Given the description of an element on the screen output the (x, y) to click on. 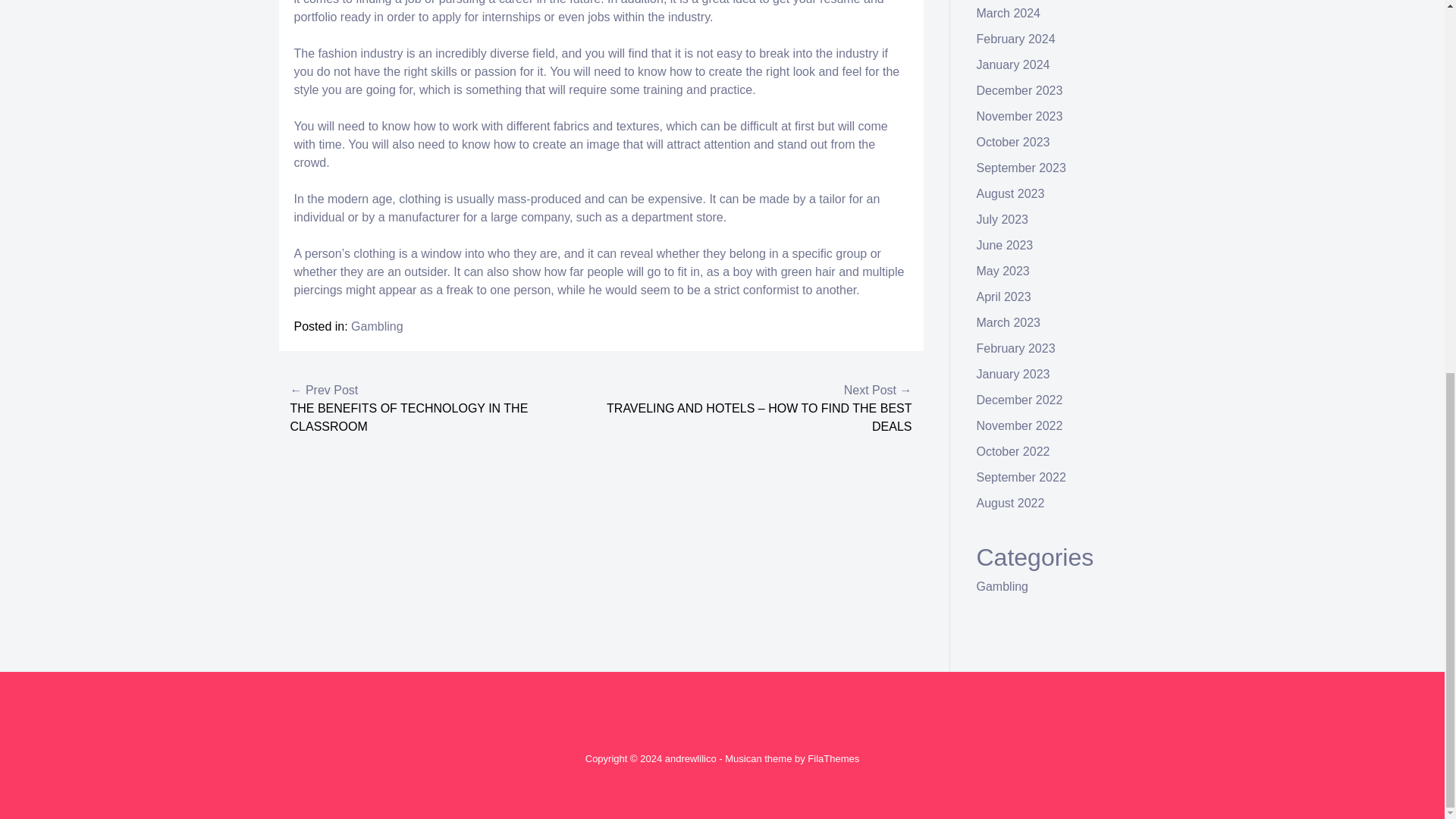
July 2023 (1002, 219)
November 2023 (1019, 115)
May 2023 (1002, 270)
December 2023 (1019, 90)
December 2022 (1019, 399)
October 2023 (1012, 141)
andrewlilico (690, 758)
June 2023 (1004, 245)
September 2022 (1020, 477)
January 2024 (1012, 64)
